Given the description of an element on the screen output the (x, y) to click on. 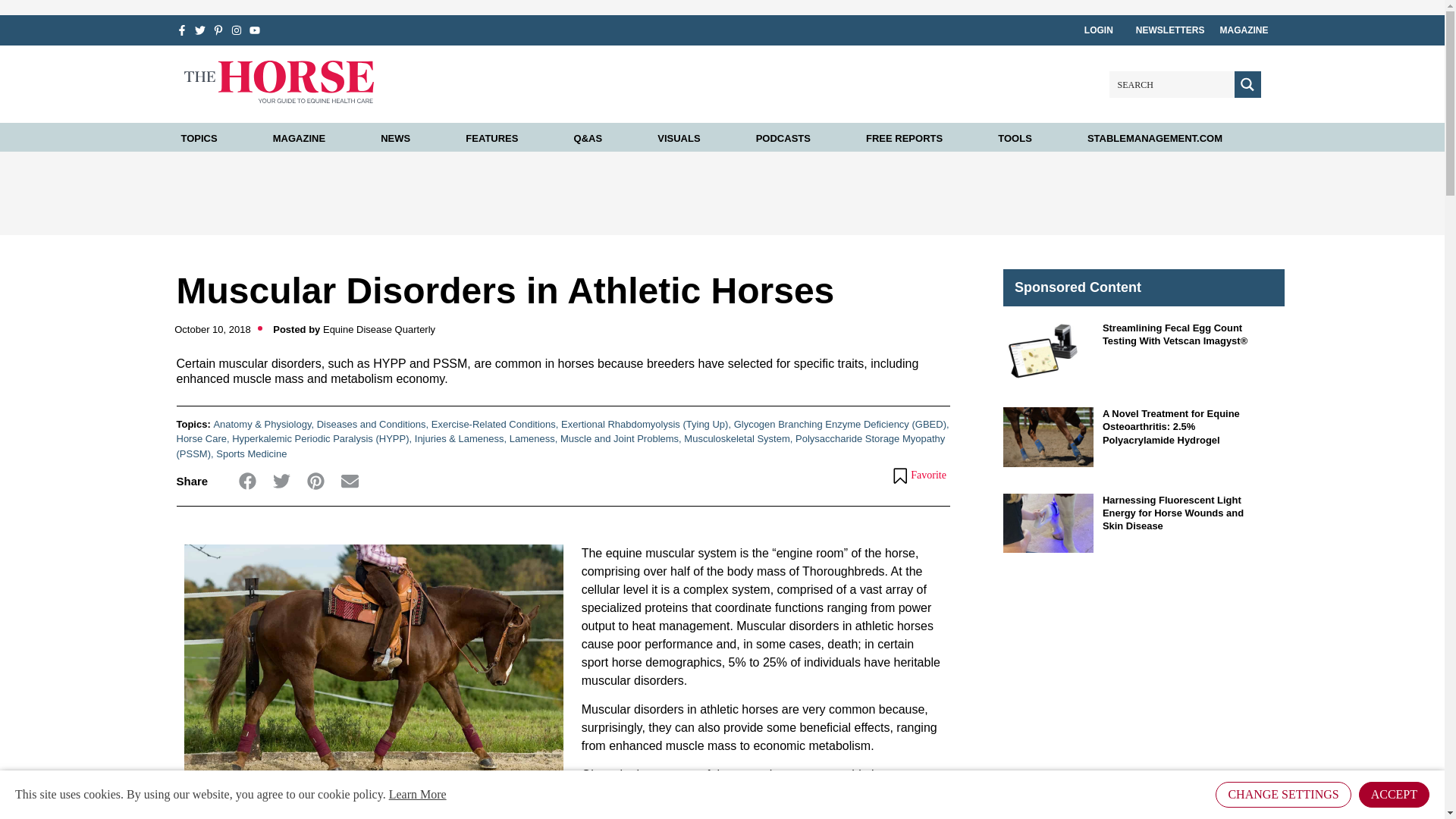
NEWSLETTERS (1170, 29)
Bookmark This (919, 475)
TOPICS (198, 138)
MAGAZINE (1244, 29)
LOGIN (1102, 29)
MAGAZINE (298, 138)
NEWS (395, 138)
3rd party ad content (1131, 685)
3rd party ad content (721, 192)
